Given the description of an element on the screen output the (x, y) to click on. 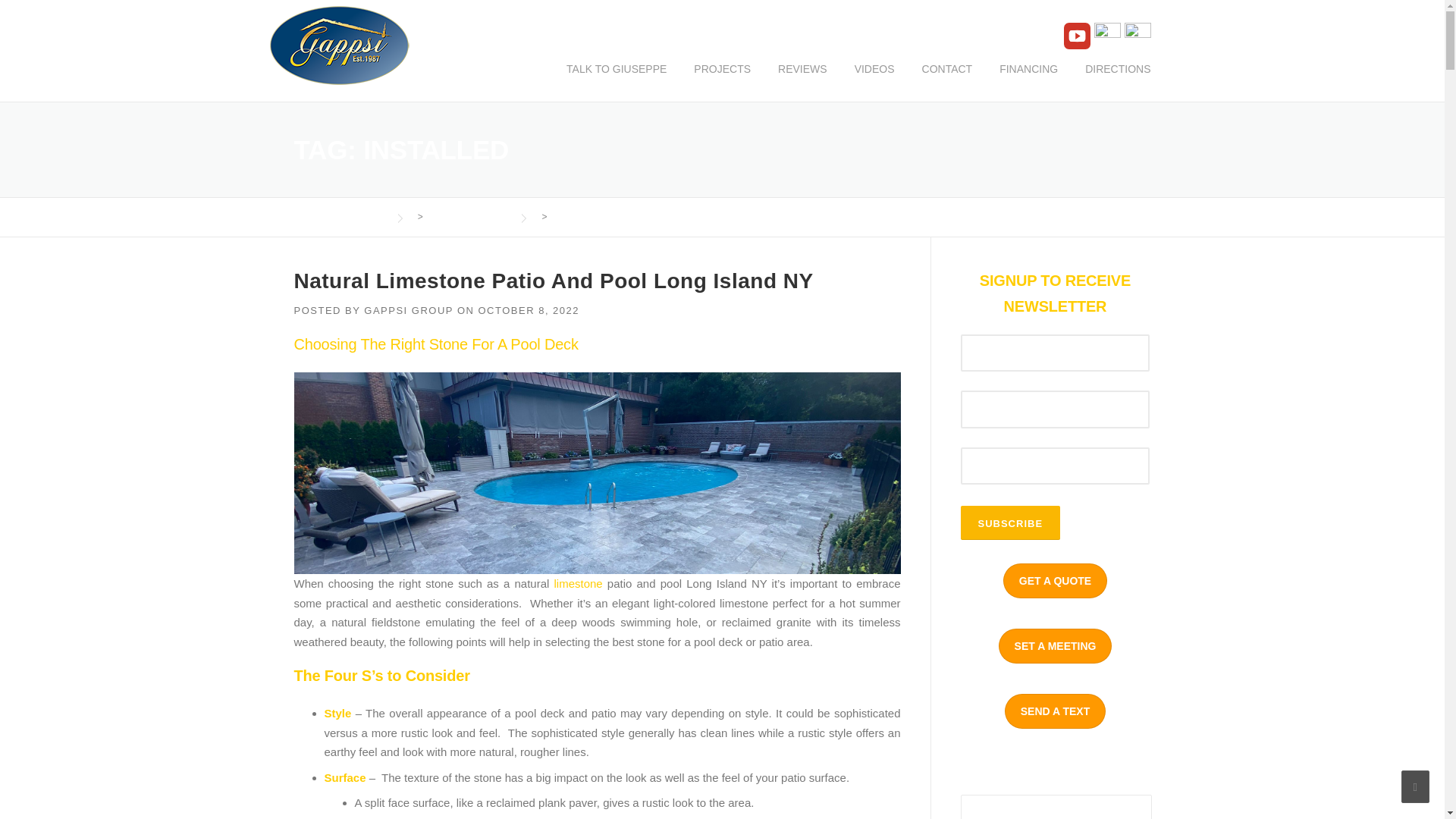
CONTACT (947, 80)
Natural-Limestone-Patio-And-Pool-Long-Island-NY (597, 473)
DIRECTIONS (1110, 80)
VIDEOS (874, 80)
TALK TO GIUSEPPE (616, 80)
Natural Limestone Patio And Pool Long Island NY (553, 280)
REVIEWS (802, 80)
Subscribe (1009, 522)
OCTOBER 8, 2022 (528, 310)
Go to Latest News. (466, 216)
Gappsi Group (338, 43)
PROJECTS (721, 80)
Go to Gappsi Group. (339, 216)
FINANCING (1028, 80)
Latest News (466, 216)
